Given the description of an element on the screen output the (x, y) to click on. 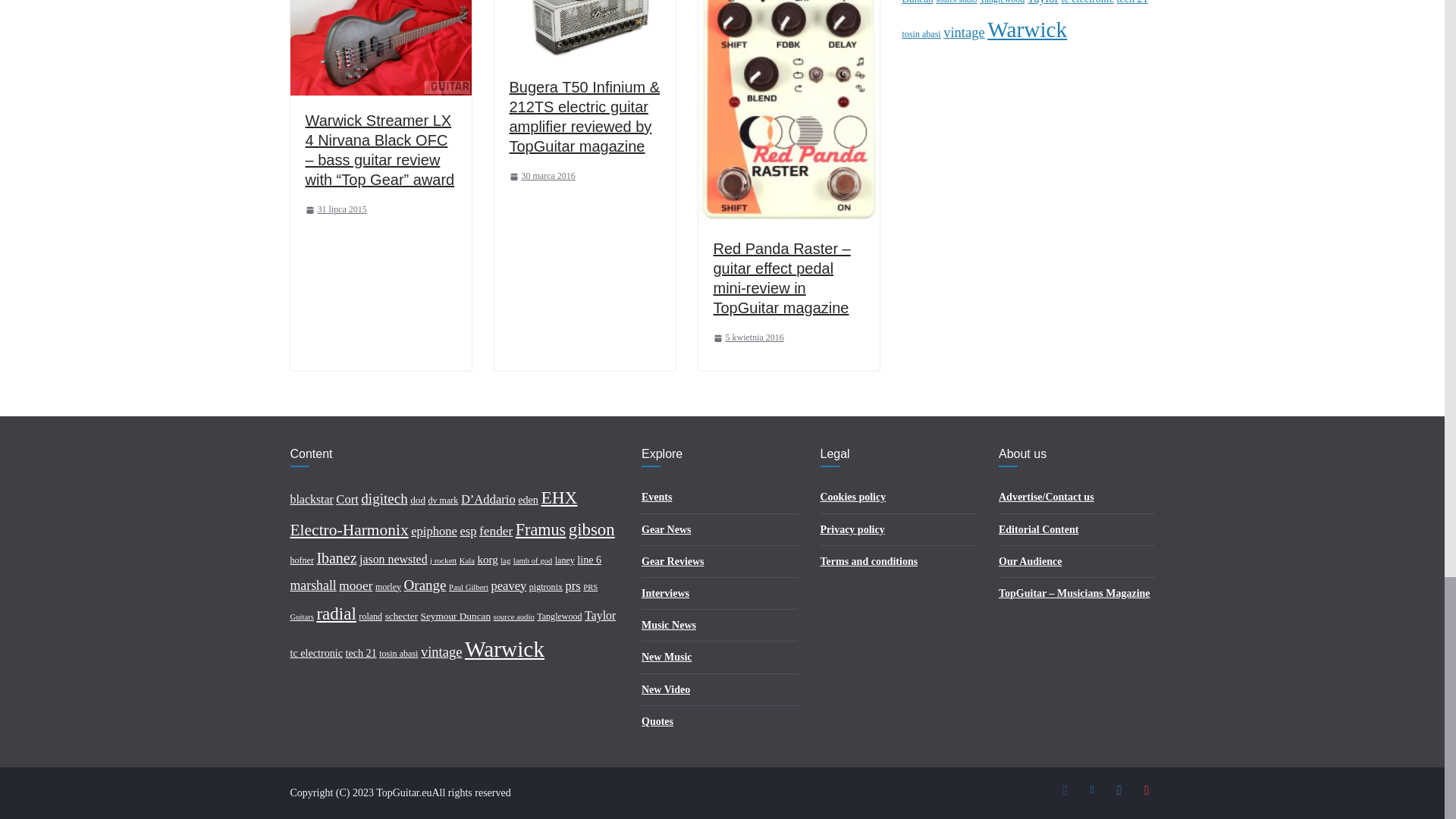
30 marca 2016 (542, 176)
31 lipca 2015 (335, 209)
13:33 (335, 209)
